Given the description of an element on the screen output the (x, y) to click on. 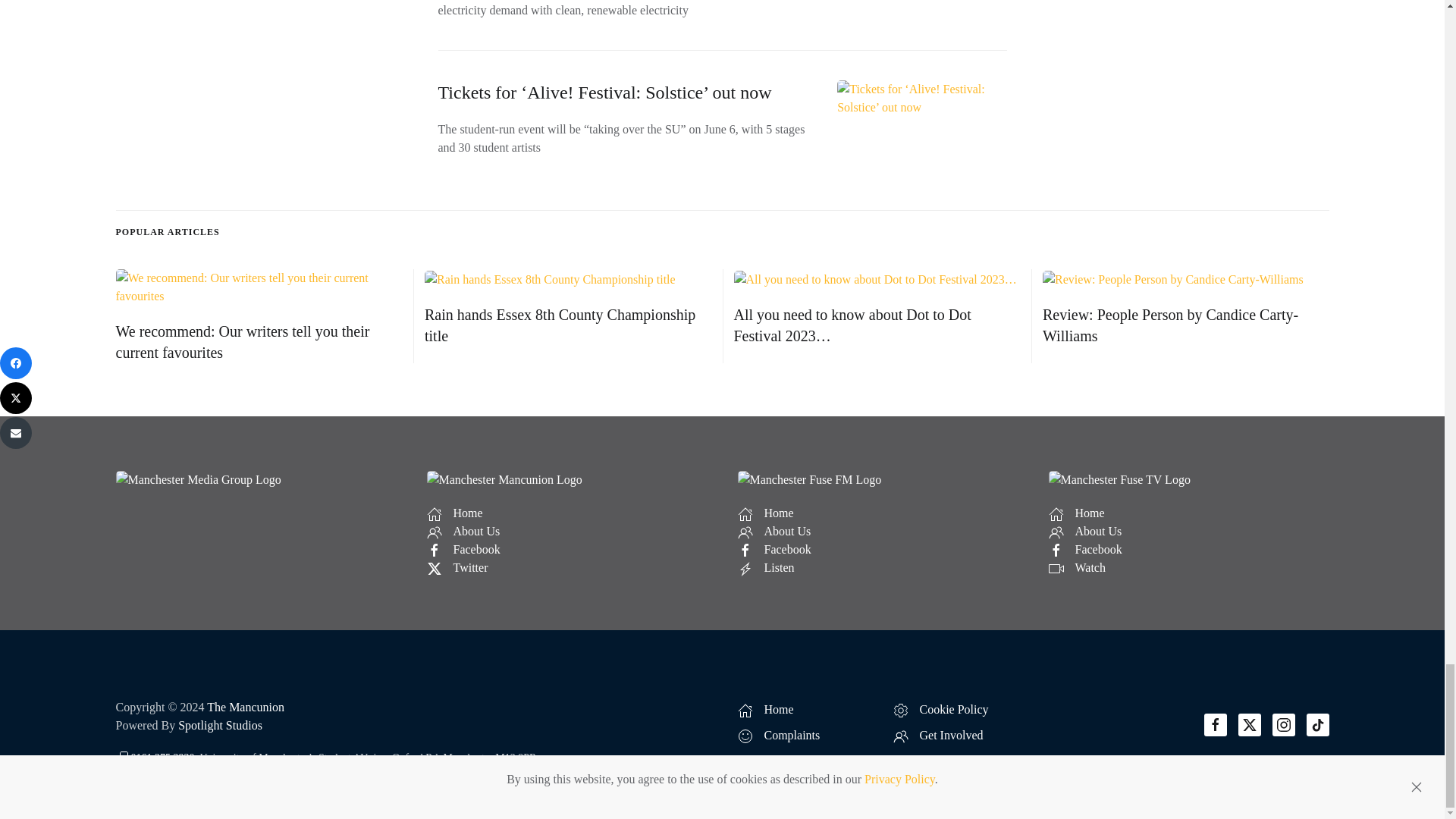
The Mancunion (244, 707)
Web Design by Spotlight Studios (219, 725)
